Given the description of an element on the screen output the (x, y) to click on. 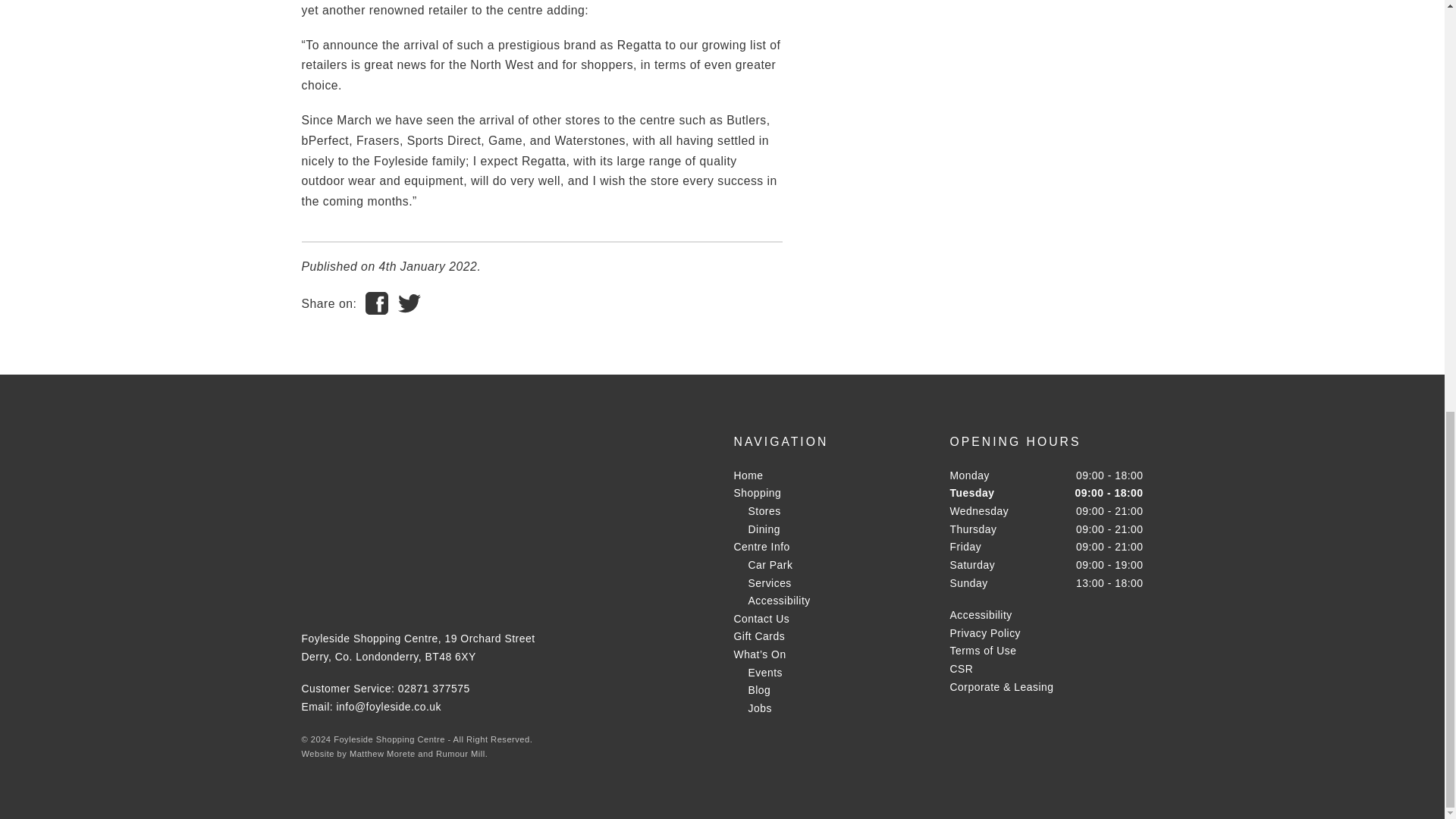
Services (769, 582)
Foyleside (369, 489)
Contact Us (761, 618)
Car Park (770, 564)
TikTok (422, 588)
02871 377575 (433, 688)
Events (765, 672)
Stores (764, 510)
Accessibility (778, 600)
Home (747, 475)
Shopping (757, 492)
Dining (763, 529)
Instagram (385, 588)
Facebook (315, 588)
Twitter (350, 588)
